Given the description of an element on the screen output the (x, y) to click on. 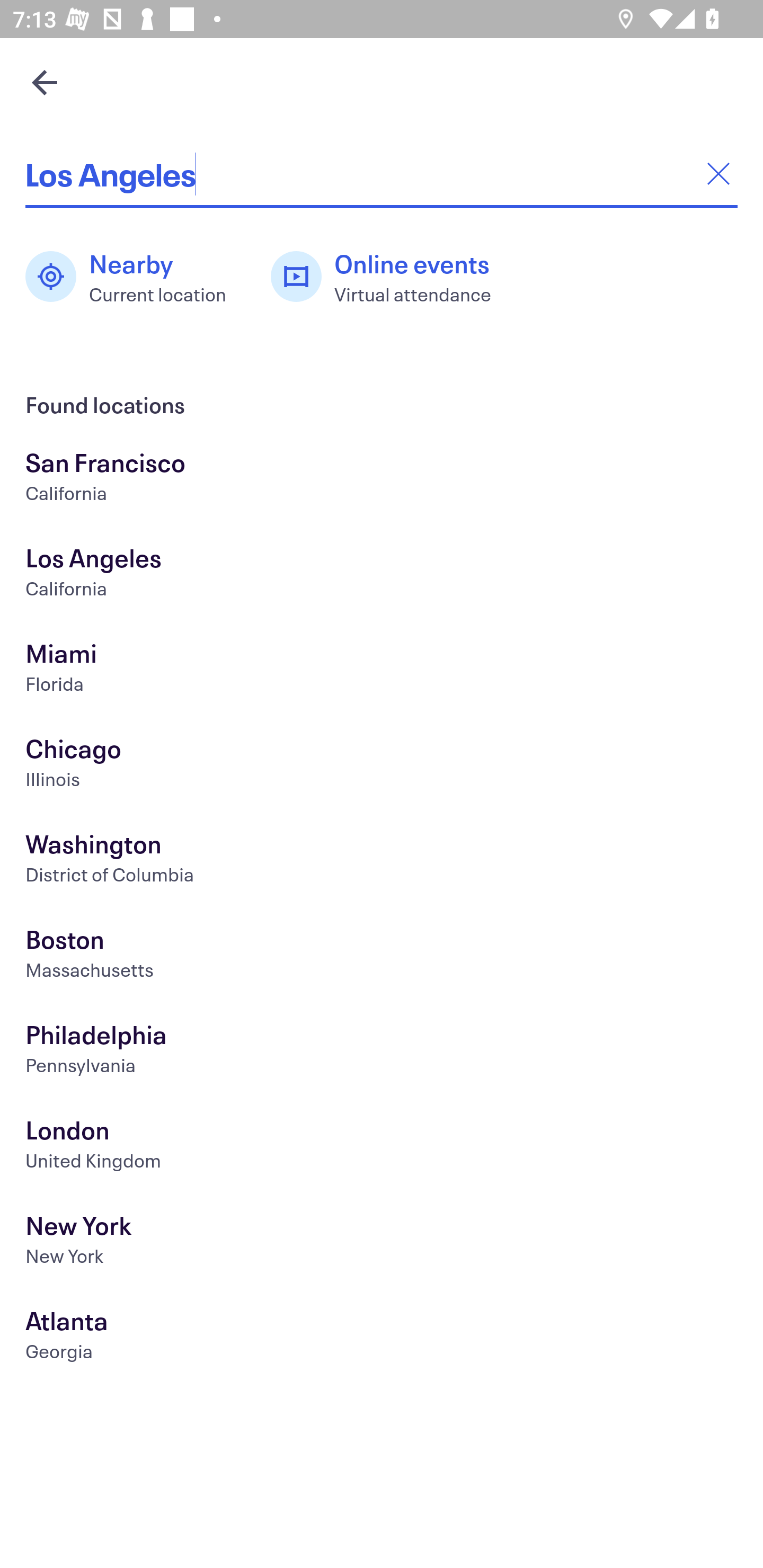
Navigate up (44, 82)
Los Angeles (381, 173)
Nearby Current location (135, 276)
Online events Virtual attendance (390, 276)
San Francisco California (381, 479)
Los Angeles California (381, 574)
Miami Florida (381, 670)
Chicago Illinois (381, 765)
Washington District of Columbia (381, 861)
Boston Massachusetts (381, 955)
Philadelphia Pennsylvania (381, 1051)
London United Kingdom (381, 1146)
New York (381, 1242)
Atlanta Georgia (381, 1338)
